Given the description of an element on the screen output the (x, y) to click on. 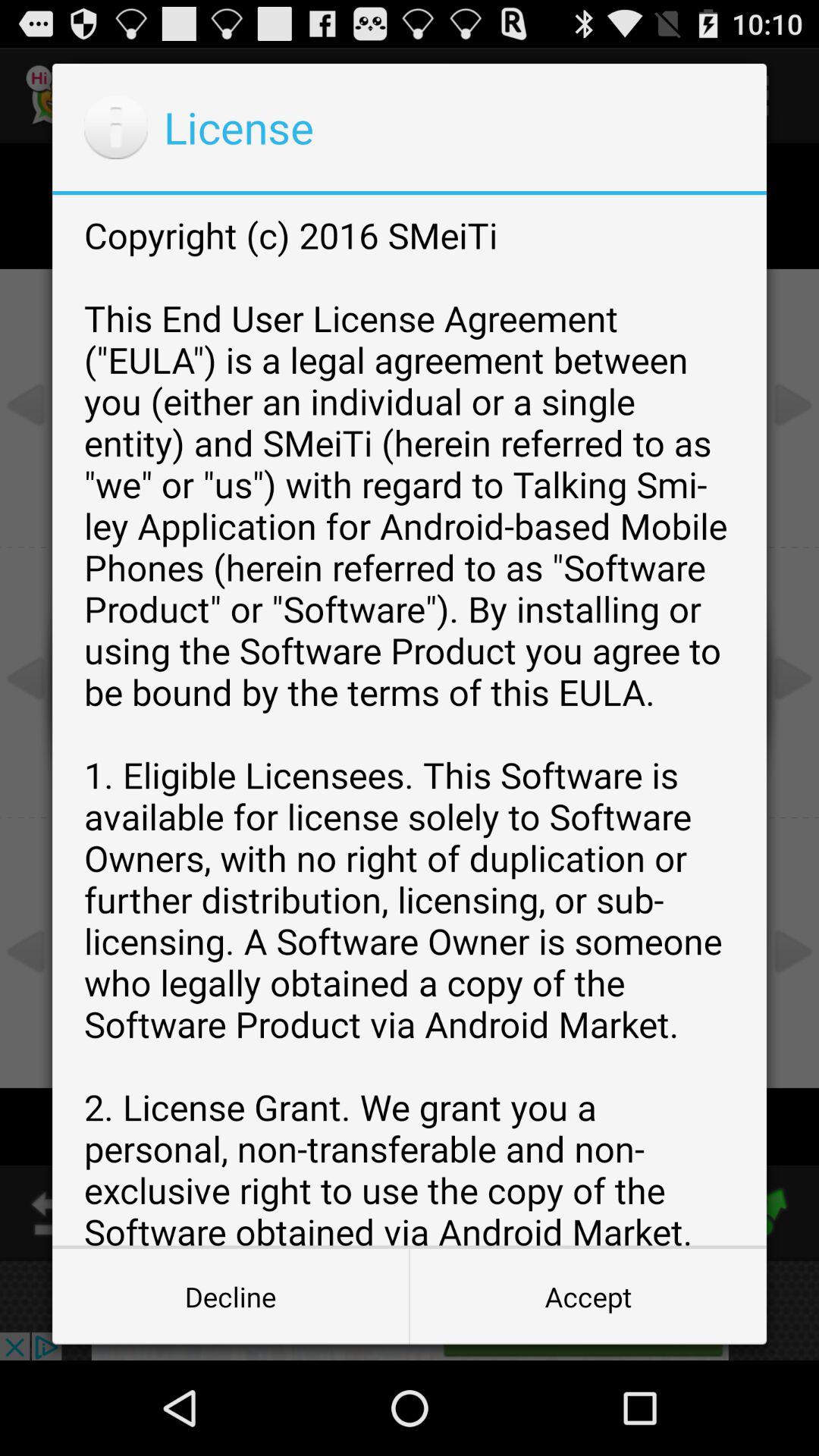
select the app below copyright c 2016 item (230, 1296)
